Given the description of an element on the screen output the (x, y) to click on. 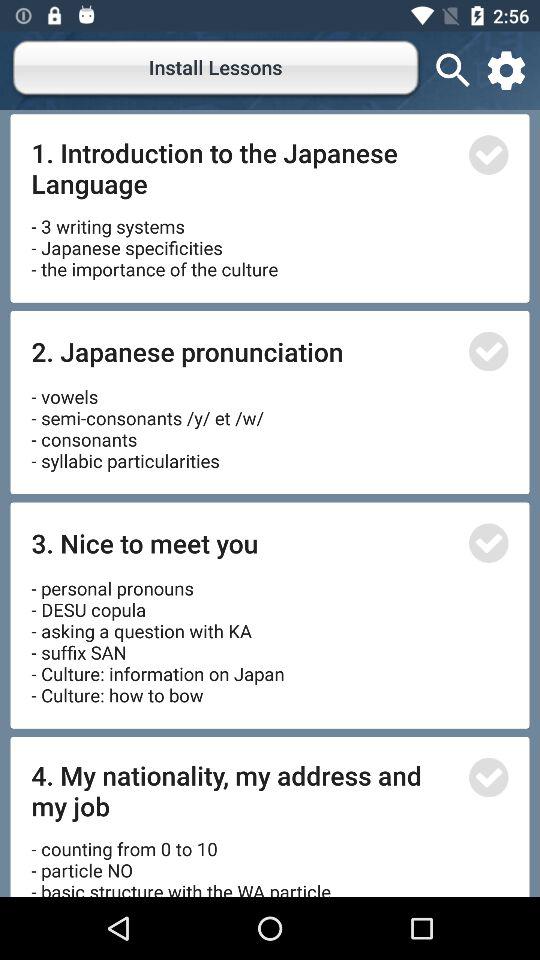
confirm lesson (488, 351)
